Given the description of an element on the screen output the (x, y) to click on. 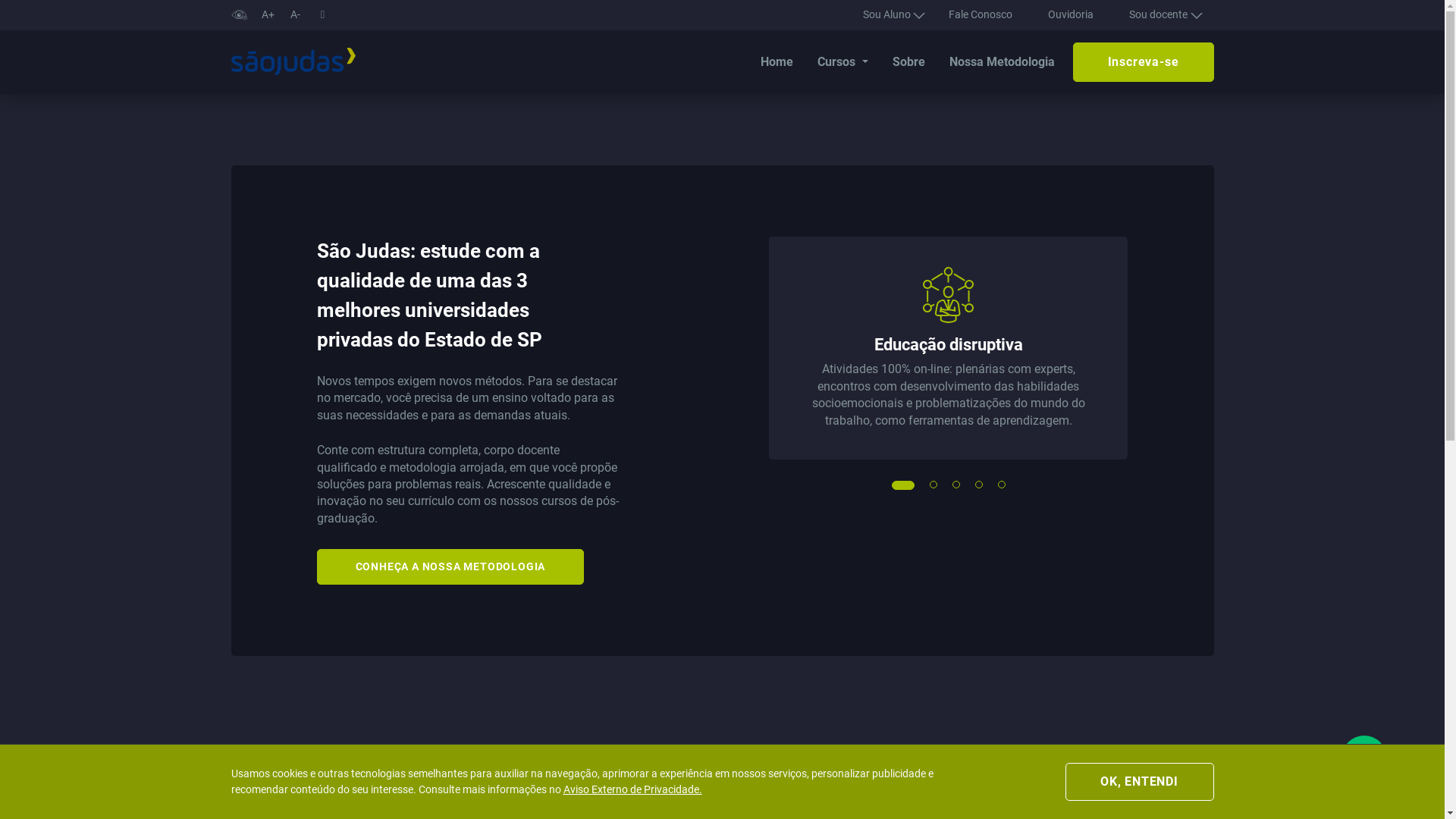
Home Element type: text (776, 62)
Sou Aluno Element type: text (887, 14)
Aviso Externo de Privacidade. Element type: text (631, 789)
Fale Conosco Element type: text (980, 14)
4 Element type: text (979, 485)
5 Element type: text (1002, 485)
1 Element type: text (895, 485)
USJT Element type: hover (292, 61)
OK, ENTENDI Element type: text (1138, 781)
3 Element type: text (956, 485)
Inscreva-se Element type: text (1143, 62)
2 Element type: text (933, 485)
Sobre Element type: text (908, 62)
Ouvidoria Element type: text (1070, 14)
Nossa Metodologia Element type: text (1001, 62)
Sou docente Element type: text (1159, 14)
Cursos Element type: text (842, 62)
